Given the description of an element on the screen output the (x, y) to click on. 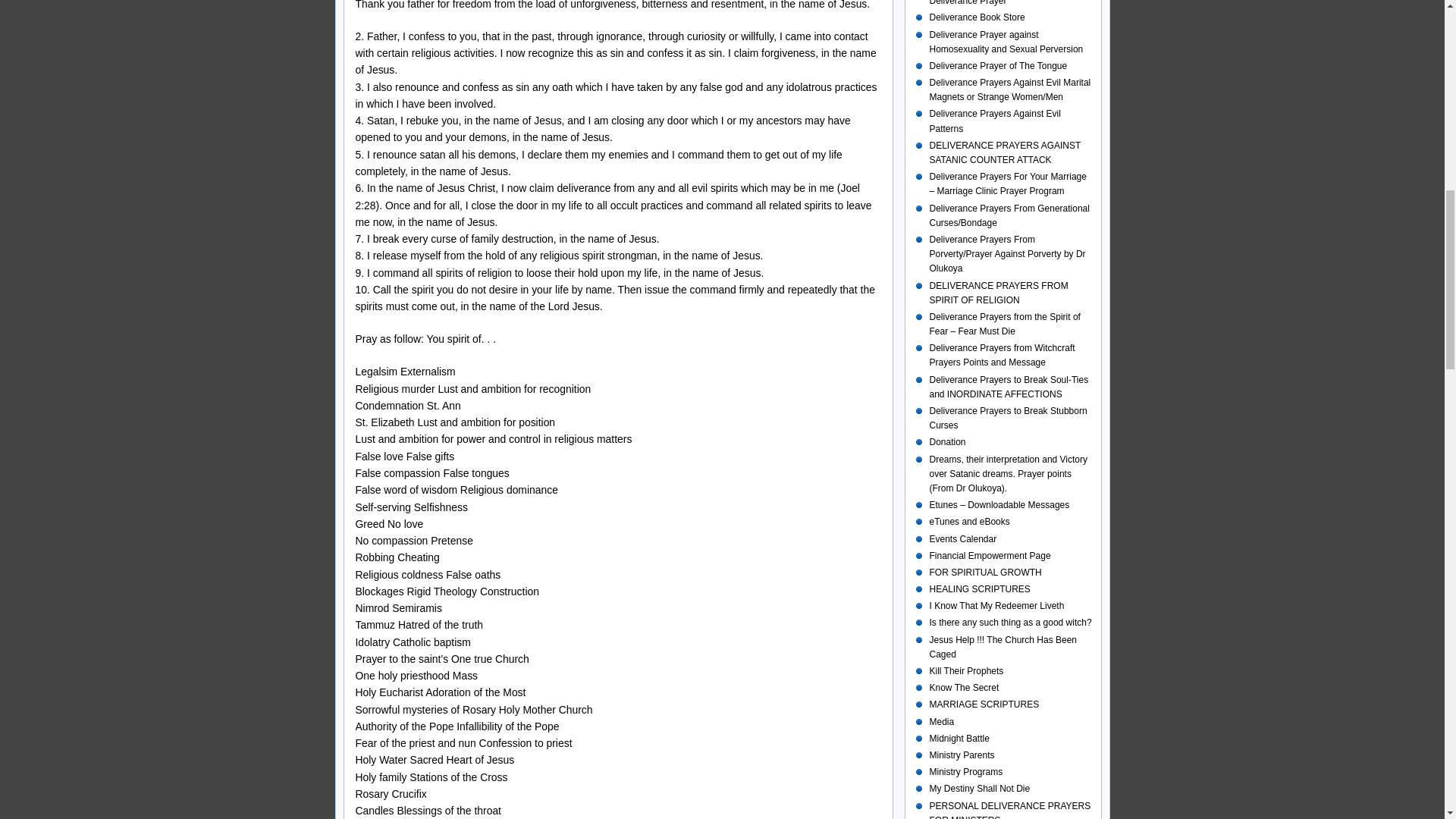
Deliverance Prayer of The Tongue (998, 65)
DELIVERANCE PRAYERS FROM SPIRIT OF RELIGION (999, 292)
Deliverance Prayers Against Evil Patterns (995, 120)
Deliverance Book Store (977, 17)
DELIVERANCE PRAYERS AGAINST SATANIC COUNTER ATTACK (1005, 152)
